Given the description of an element on the screen output the (x, y) to click on. 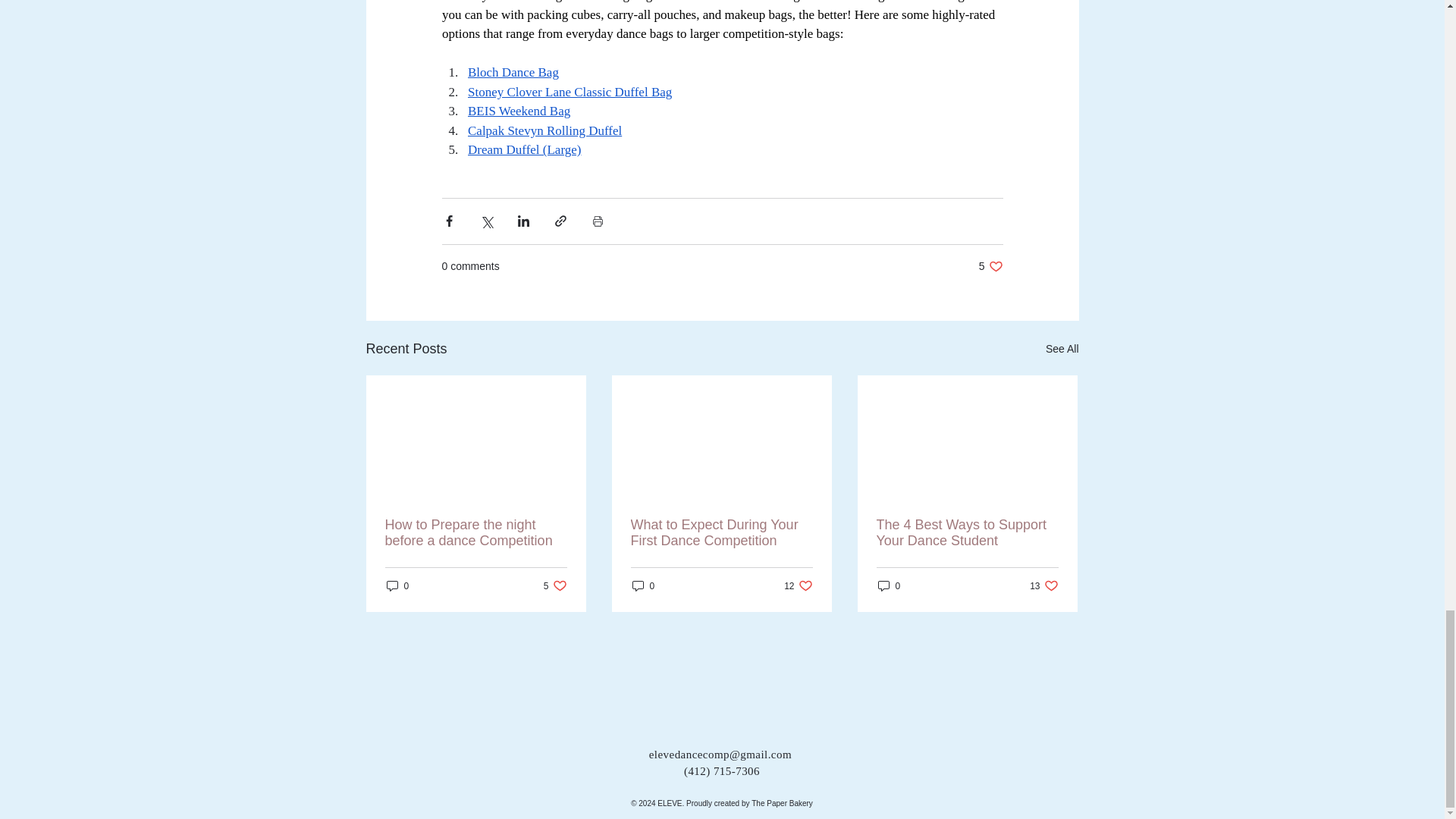
See All (1061, 349)
Calpak Stevyn Rolling Duffel (990, 266)
Stoney Clover Lane Classic Duffel Bag (544, 130)
BEIS Weekend Bag (569, 92)
Bloch Dance Bag (518, 110)
